Given the description of an element on the screen output the (x, y) to click on. 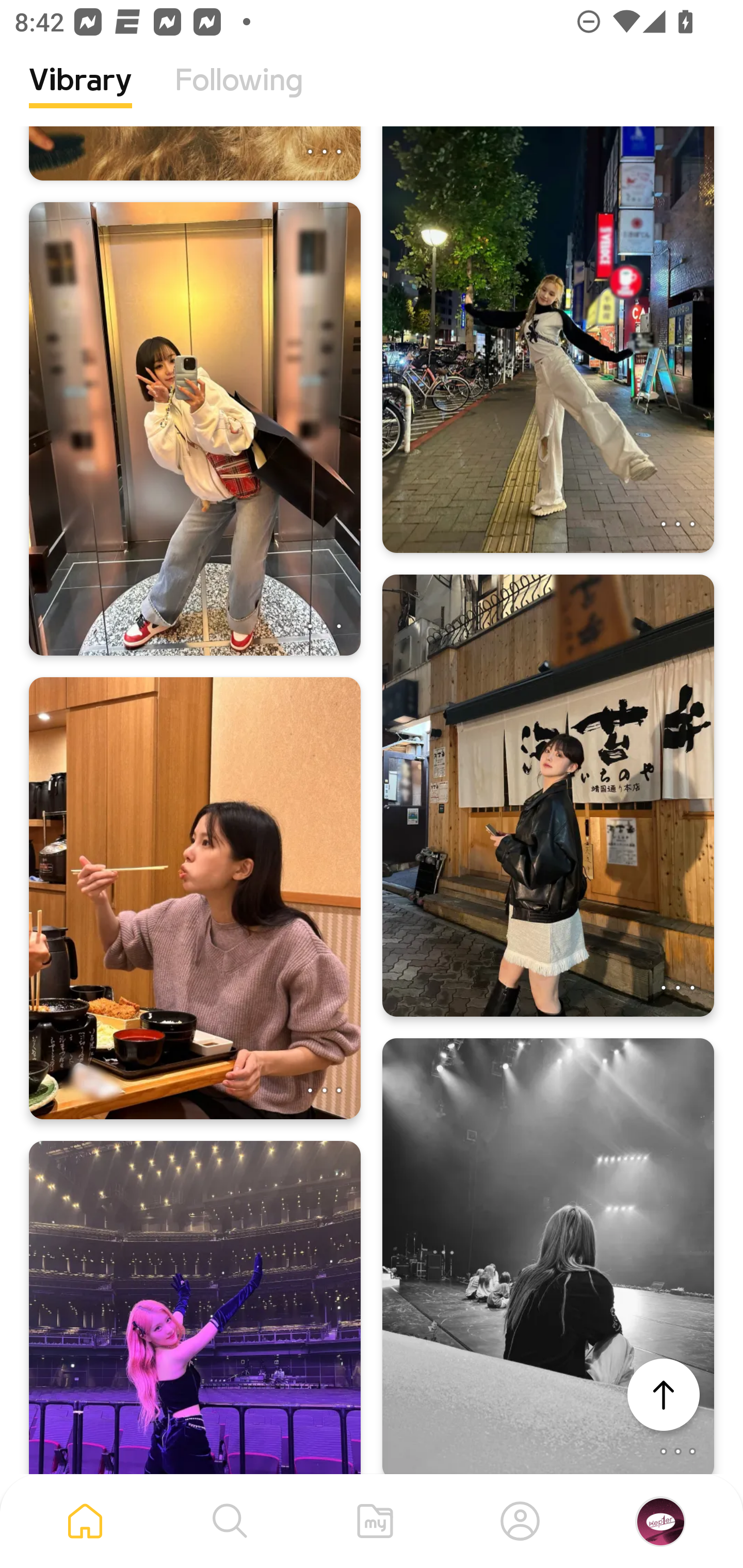
Vibrary (80, 95)
Following (239, 95)
